Given the description of an element on the screen output the (x, y) to click on. 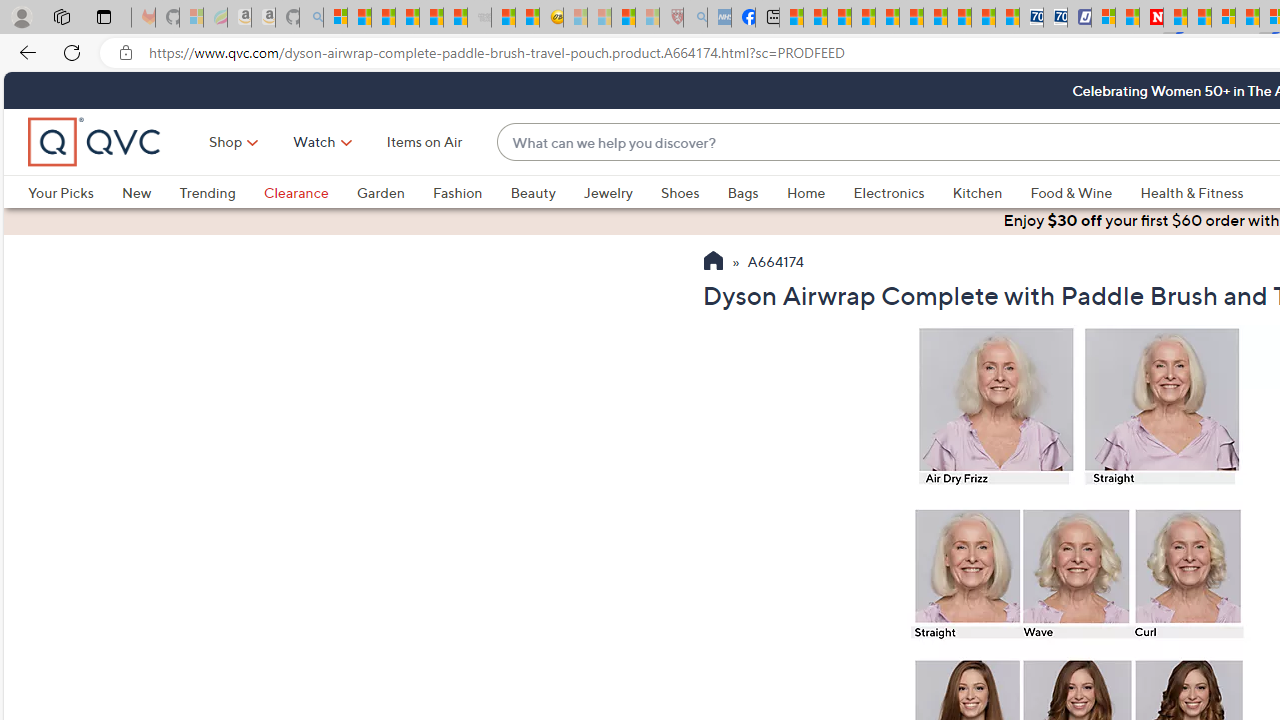
Jewelry (607, 192)
Beauty (532, 192)
New (150, 192)
Your Picks (60, 192)
QVC home (95, 141)
Jewelry (621, 192)
